Given the description of an element on the screen output the (x, y) to click on. 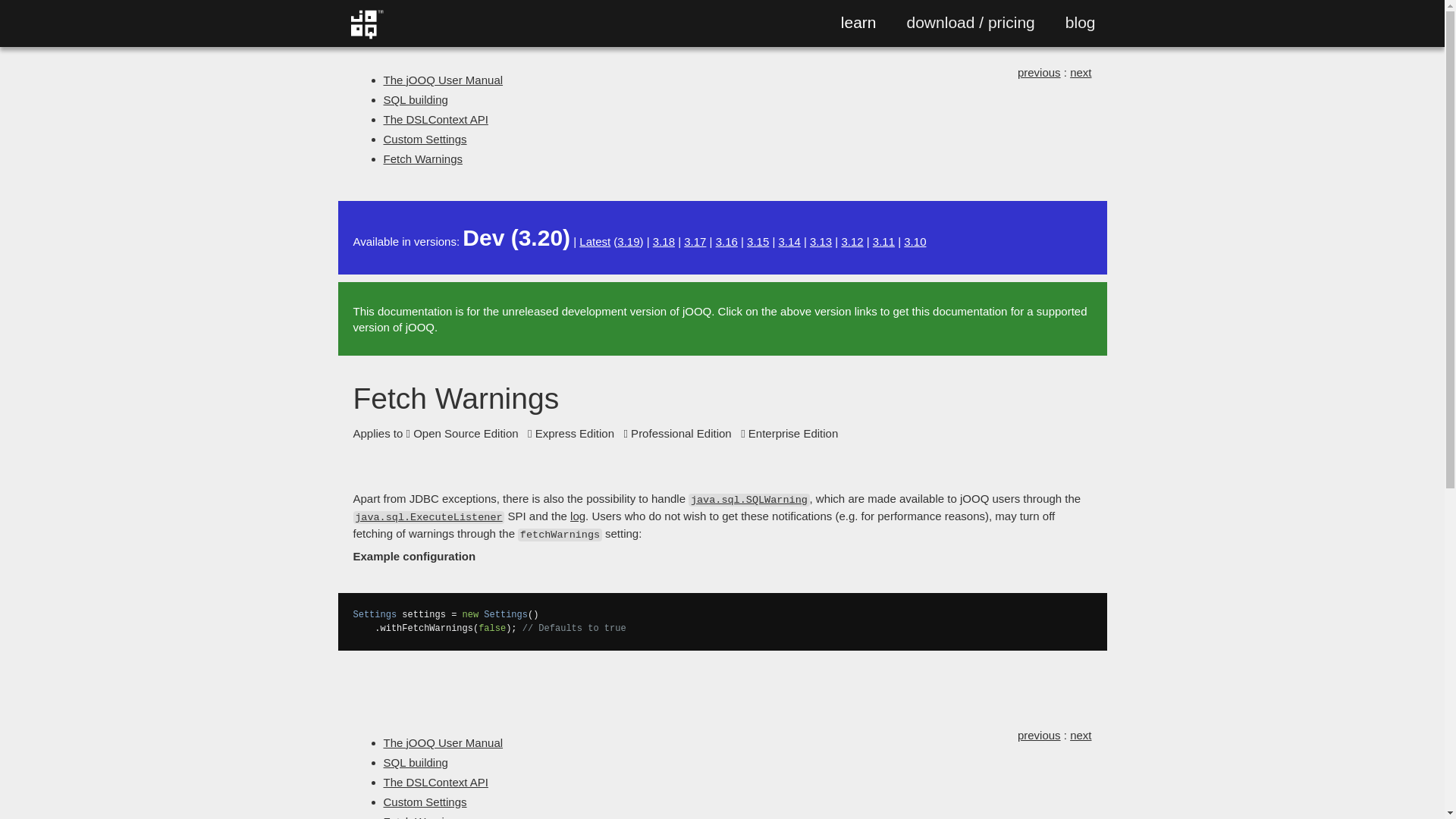
Fetch Warnings (423, 158)
3.17 (695, 241)
The jOOQ User Manual (443, 742)
Custom Settings (425, 138)
previous (1039, 735)
3.18 (663, 241)
3.10 (915, 241)
Read the jOOQ Blog (1080, 22)
The jOOQ User Manual (443, 79)
log (577, 515)
3.16 (727, 241)
java.sql.SQLWarning (748, 498)
The DSLContext API (435, 119)
previous (1039, 72)
java.sql.ExecuteListener (429, 515)
